Given the description of an element on the screen output the (x, y) to click on. 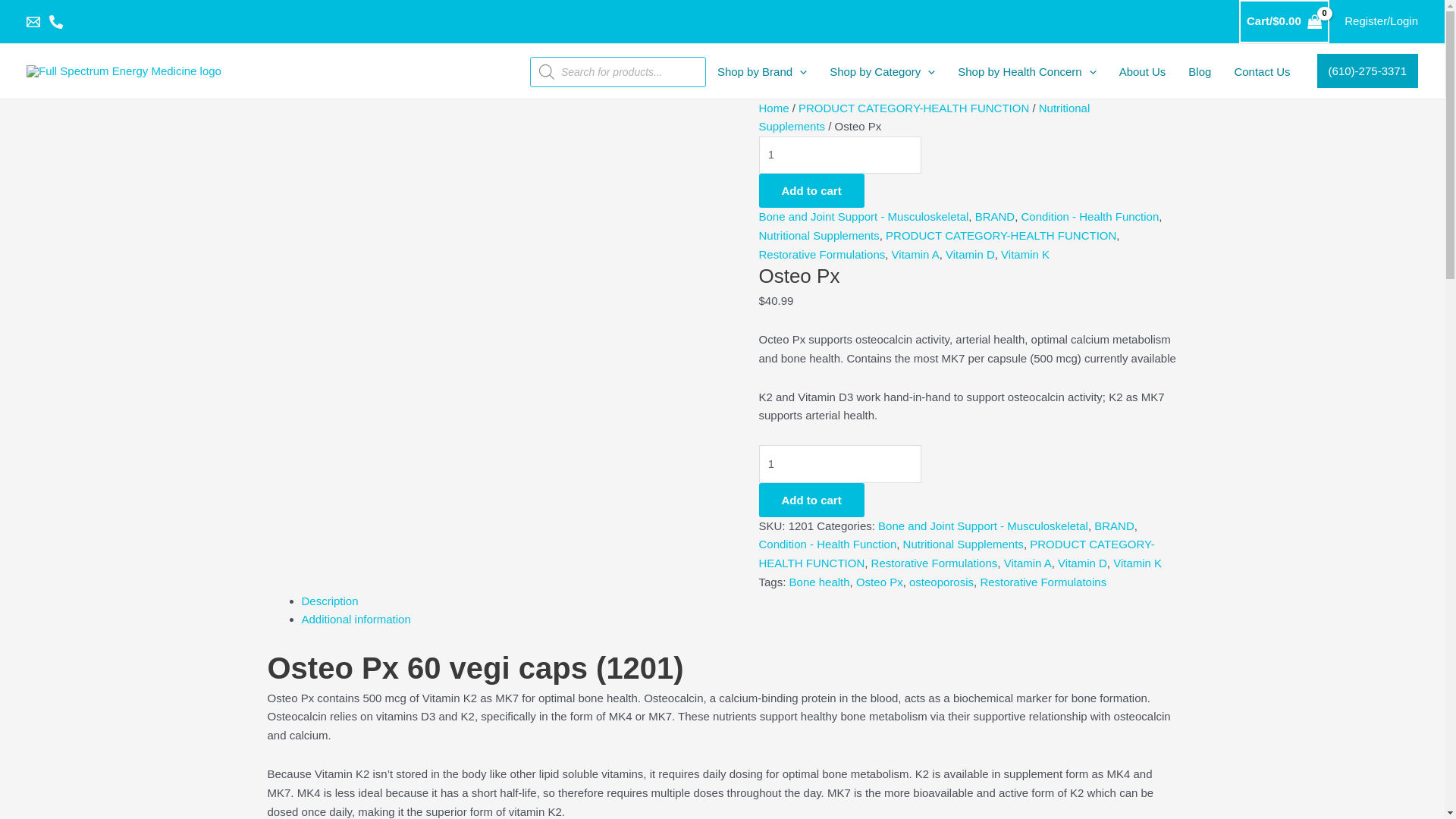
Shop by Brand (762, 71)
1 (839, 463)
1 (839, 154)
